Given the description of an element on the screen output the (x, y) to click on. 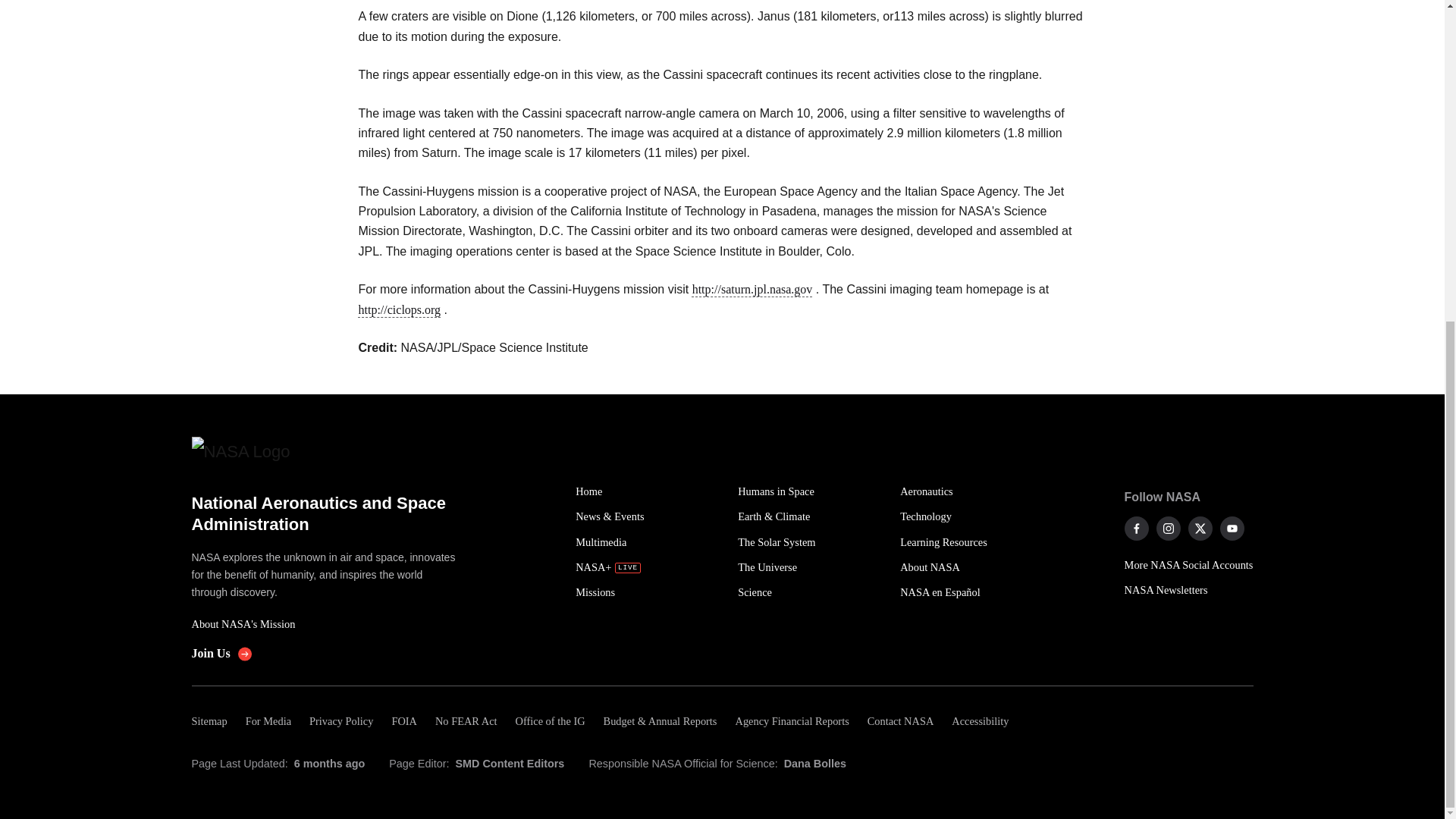
Sitemap (212, 721)
Agency Financial Reports (791, 721)
No FEAR Act (466, 721)
Accessibility (979, 721)
FOIA (403, 721)
Office of the IG (550, 721)
Privacy Policy (340, 721)
Contact NASA (901, 721)
For Media (267, 721)
